Given the description of an element on the screen output the (x, y) to click on. 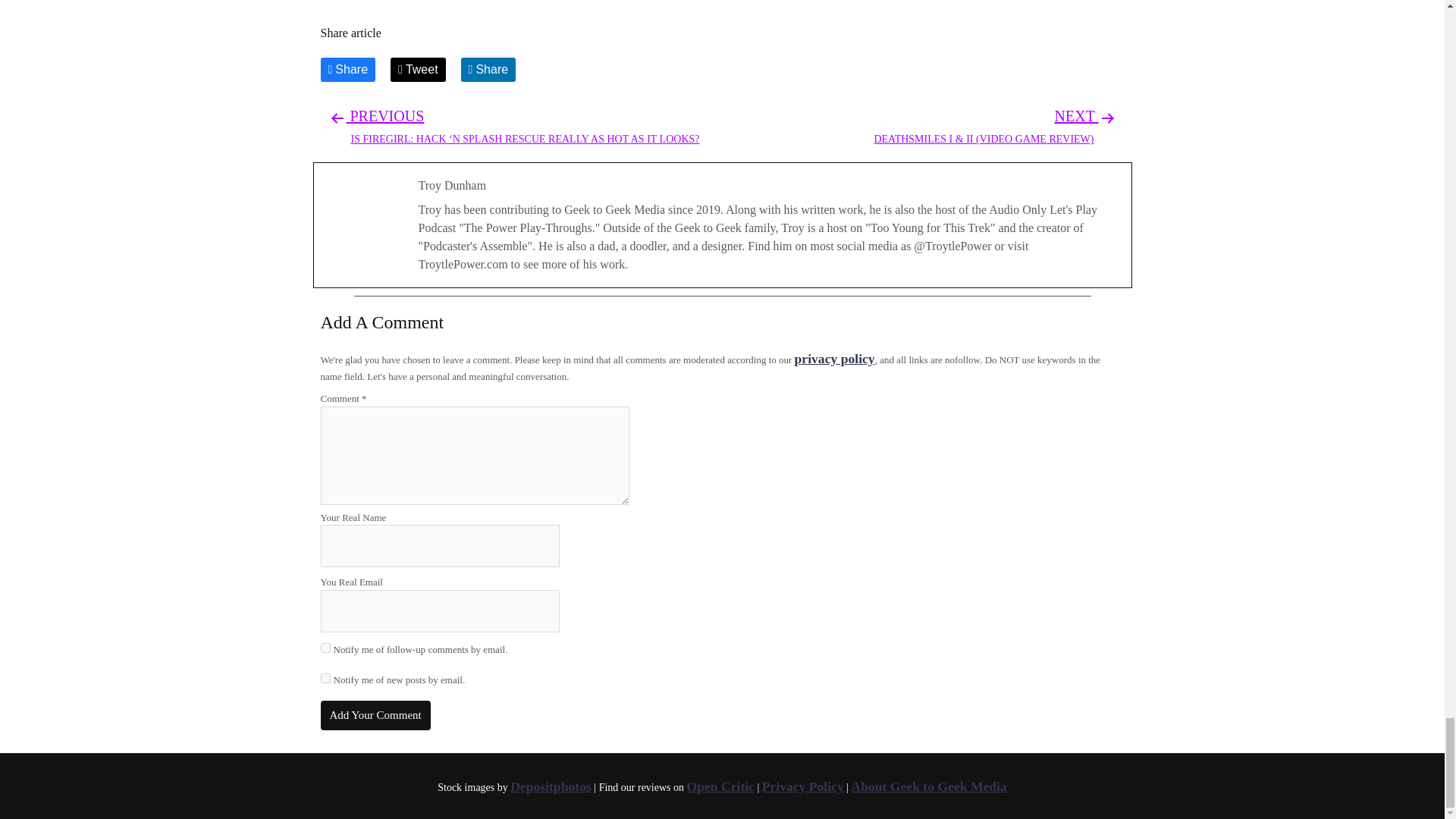
Share (488, 69)
privacy policy (834, 358)
subscribe (325, 678)
Add Your Comment (374, 715)
subscribe (325, 647)
Add Your Comment (374, 715)
Tweet (417, 69)
Share (347, 69)
Open Critic (720, 785)
Depositphotos (551, 785)
